Given the description of an element on the screen output the (x, y) to click on. 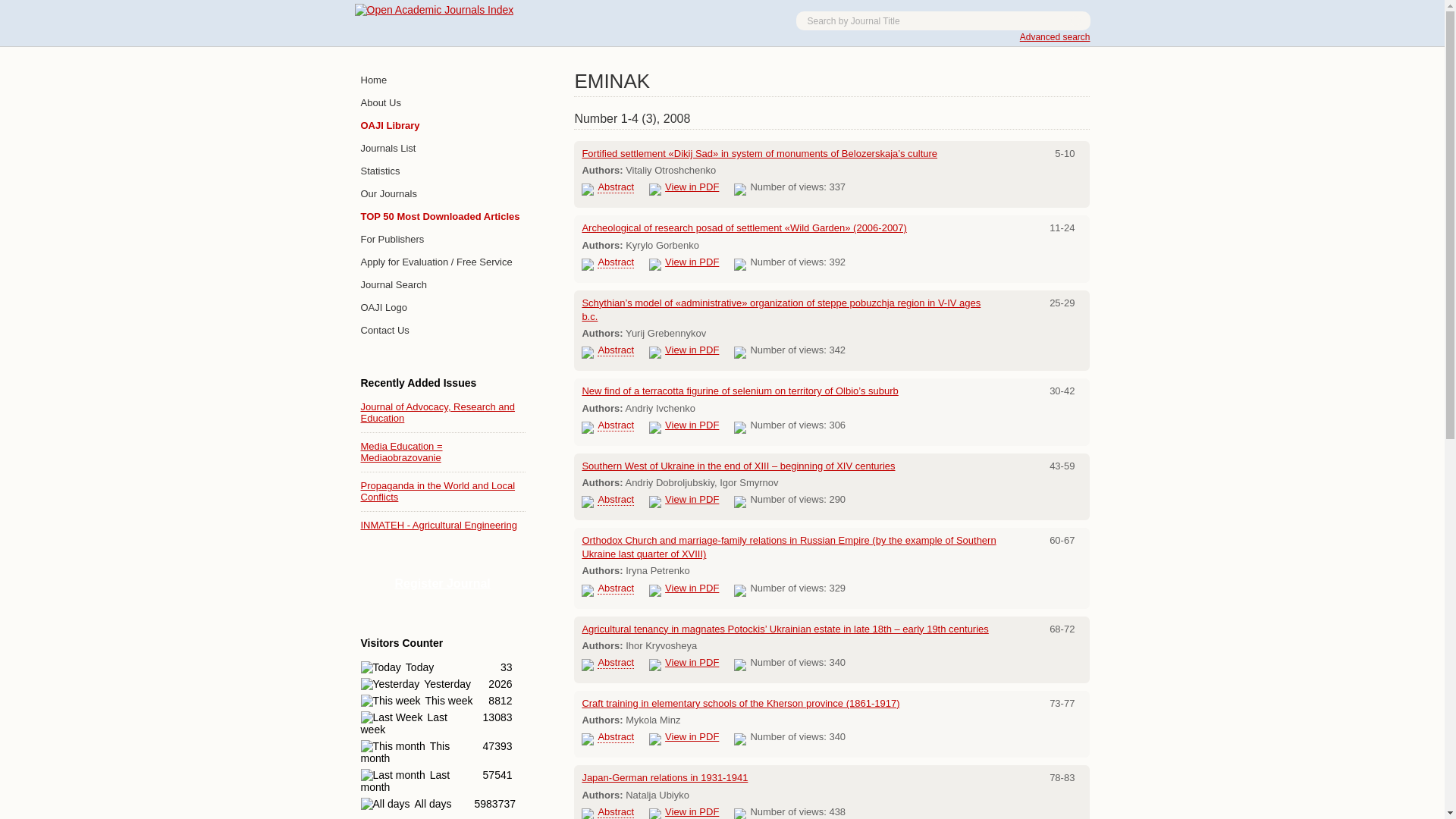
Journal Search (443, 285)
OAJI Logo (443, 308)
View in PDF (692, 261)
About Us (443, 103)
Journals List (443, 148)
Contact Us (443, 331)
Journal of Advocacy, Research and Education (438, 412)
Propaganda in the World and Local Conflicts (438, 490)
Our Journals (443, 194)
TOP 50 Most Downloaded Articles (443, 217)
OAJI Library (443, 126)
Home (443, 80)
For Publishers (443, 239)
Statistics (443, 171)
Open Academic Journals Index (434, 9)
